Given the description of an element on the screen output the (x, y) to click on. 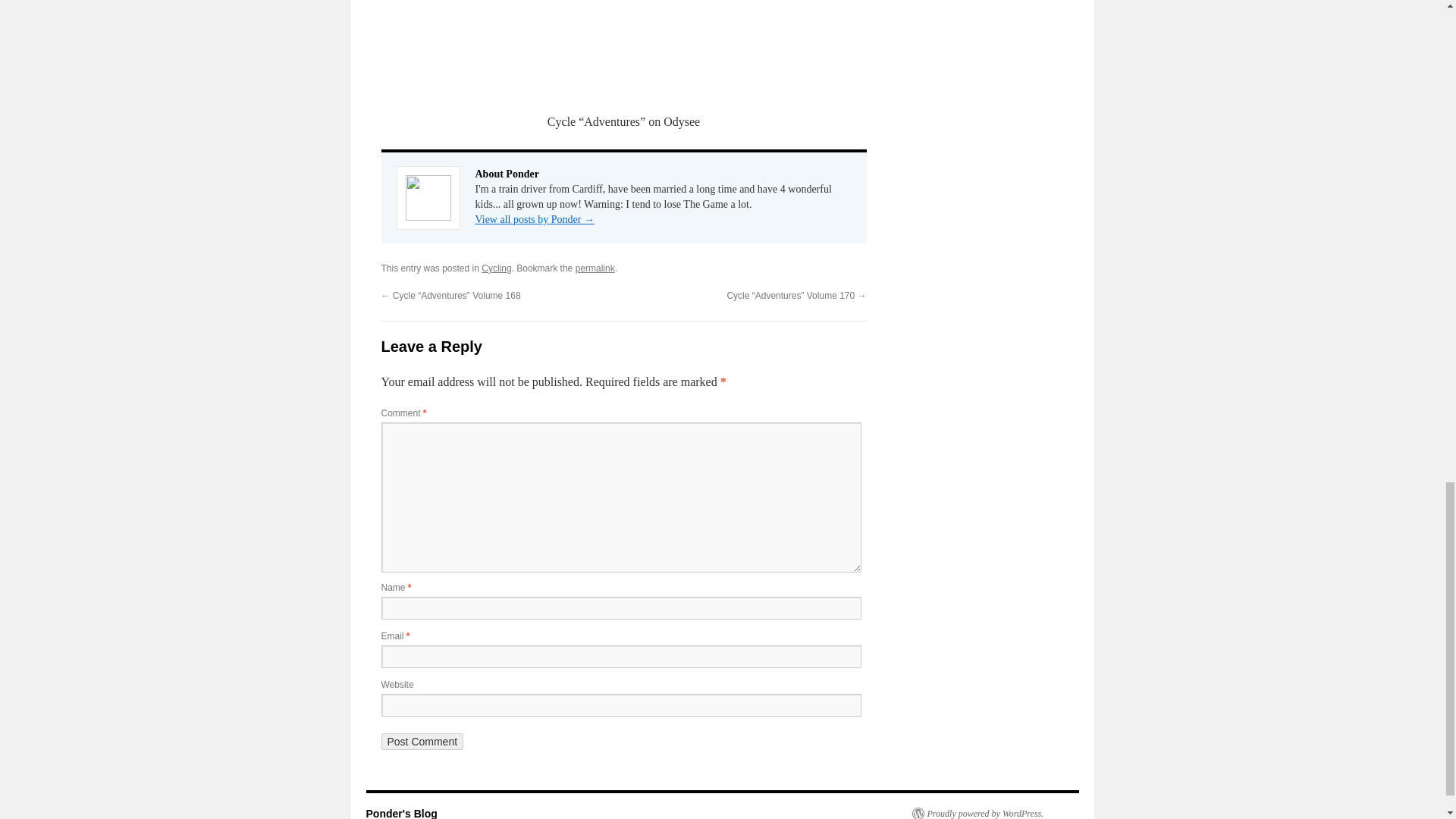
Cycling (496, 267)
permalink (594, 267)
Post Comment (421, 741)
Post Comment (421, 741)
